Given the description of an element on the screen output the (x, y) to click on. 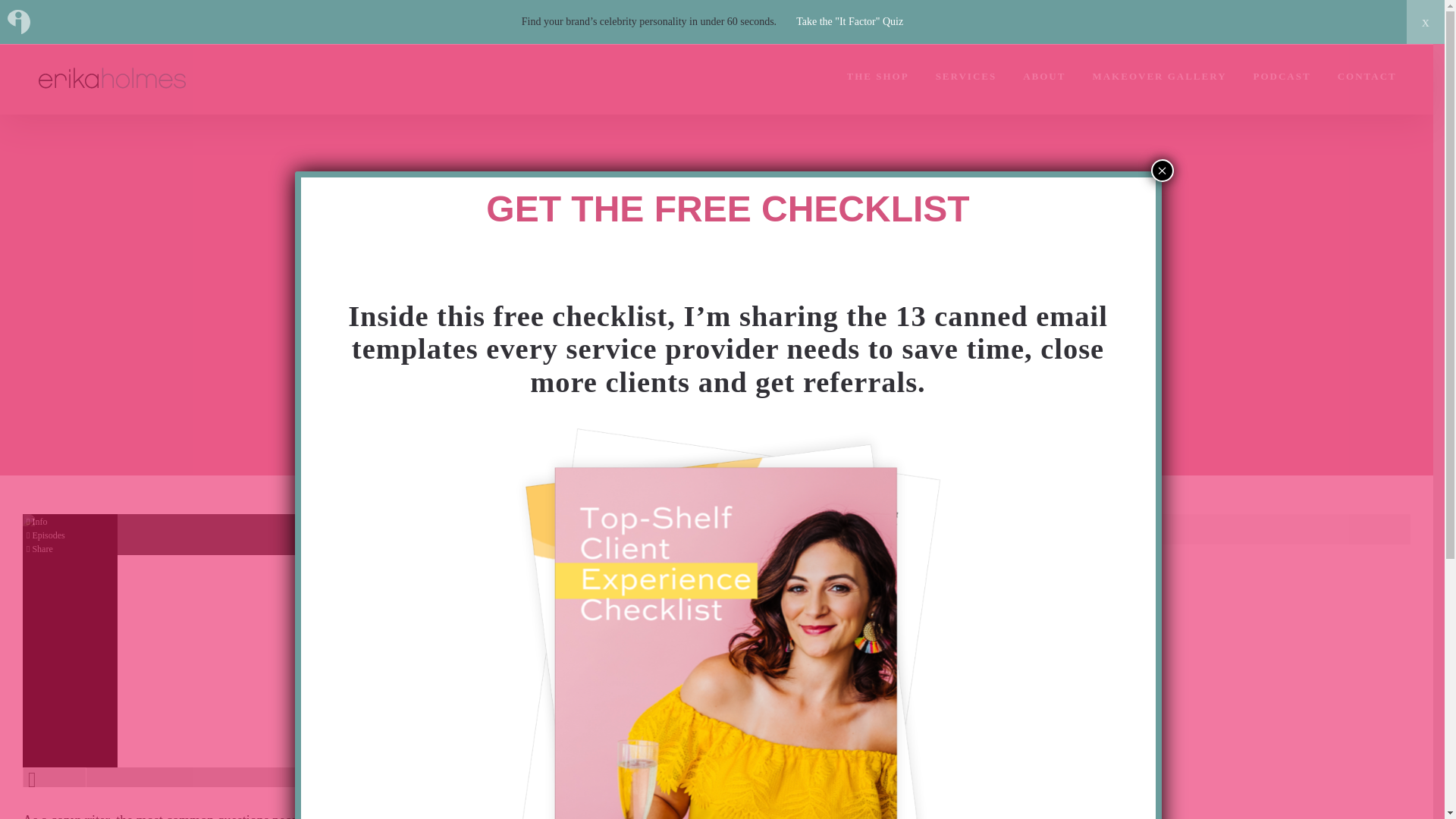
THE SHOP (877, 75)
Take the "It Factor" Quiz (849, 21)
CONTACT (1367, 75)
SERVICES (966, 75)
MAKEOVER GALLERY (1158, 75)
PODCAST (1282, 75)
